Given the description of an element on the screen output the (x, y) to click on. 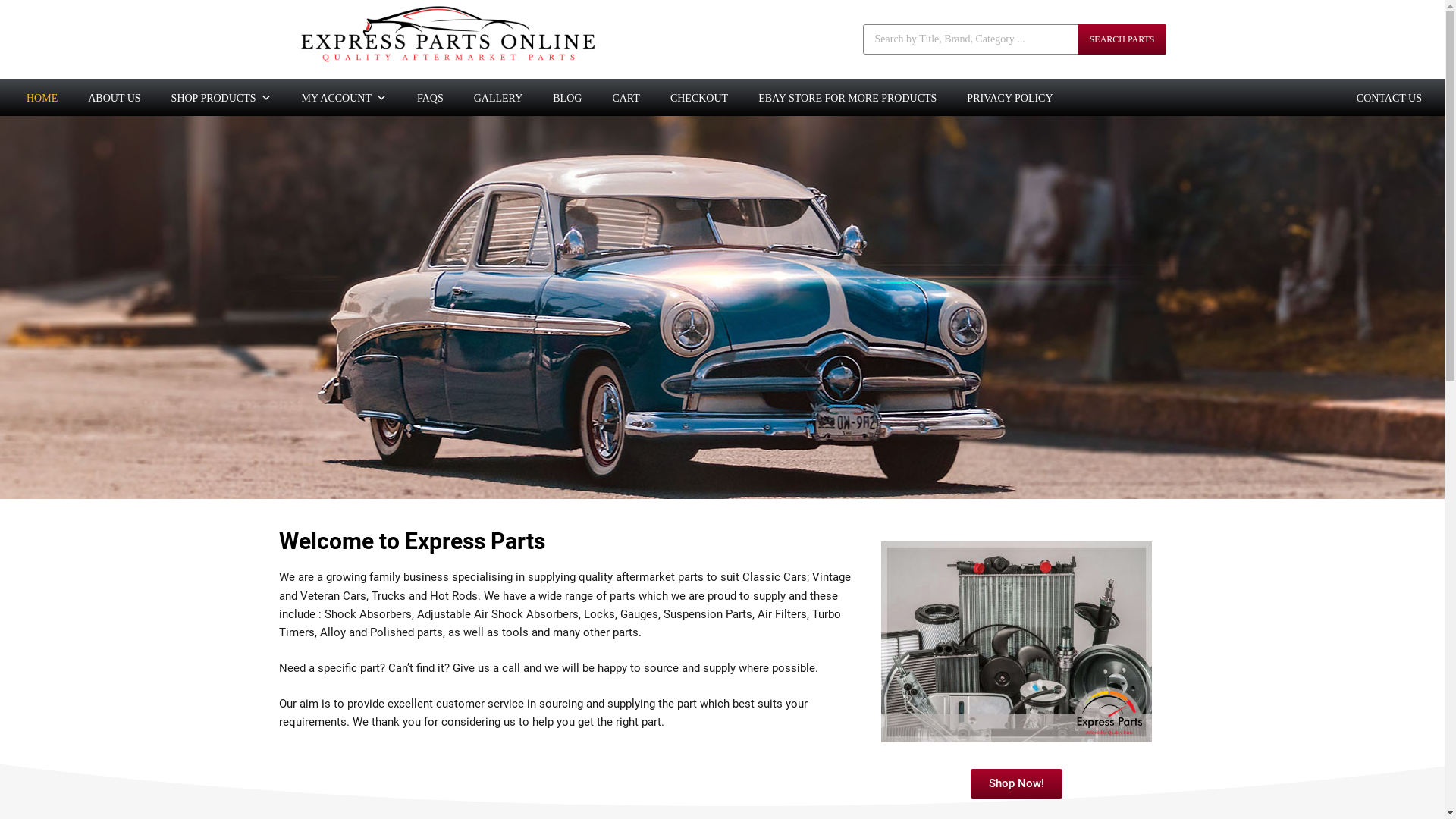
SHOP PRODUCTS Element type: text (221, 97)
CART Element type: text (625, 97)
MY ACCOUNT Element type: text (343, 97)
GALLERY Element type: text (498, 97)
SEARCH PARTS Element type: text (1122, 39)
HOME Element type: text (41, 97)
ABOUT US Element type: text (113, 97)
Shop Now! Element type: text (1016, 783)
FAQS Element type: text (429, 97)
Express Parts Online | Affordable Auto Parts Element type: hover (445, 62)
CONTACT US Element type: text (1389, 97)
BLOG Element type: text (566, 97)
CHECKOUT Element type: text (699, 97)
EBAY STORE FOR MORE PRODUCTS Element type: text (847, 97)
PRIVACY POLICY Element type: text (1009, 97)
